Given the description of an element on the screen output the (x, y) to click on. 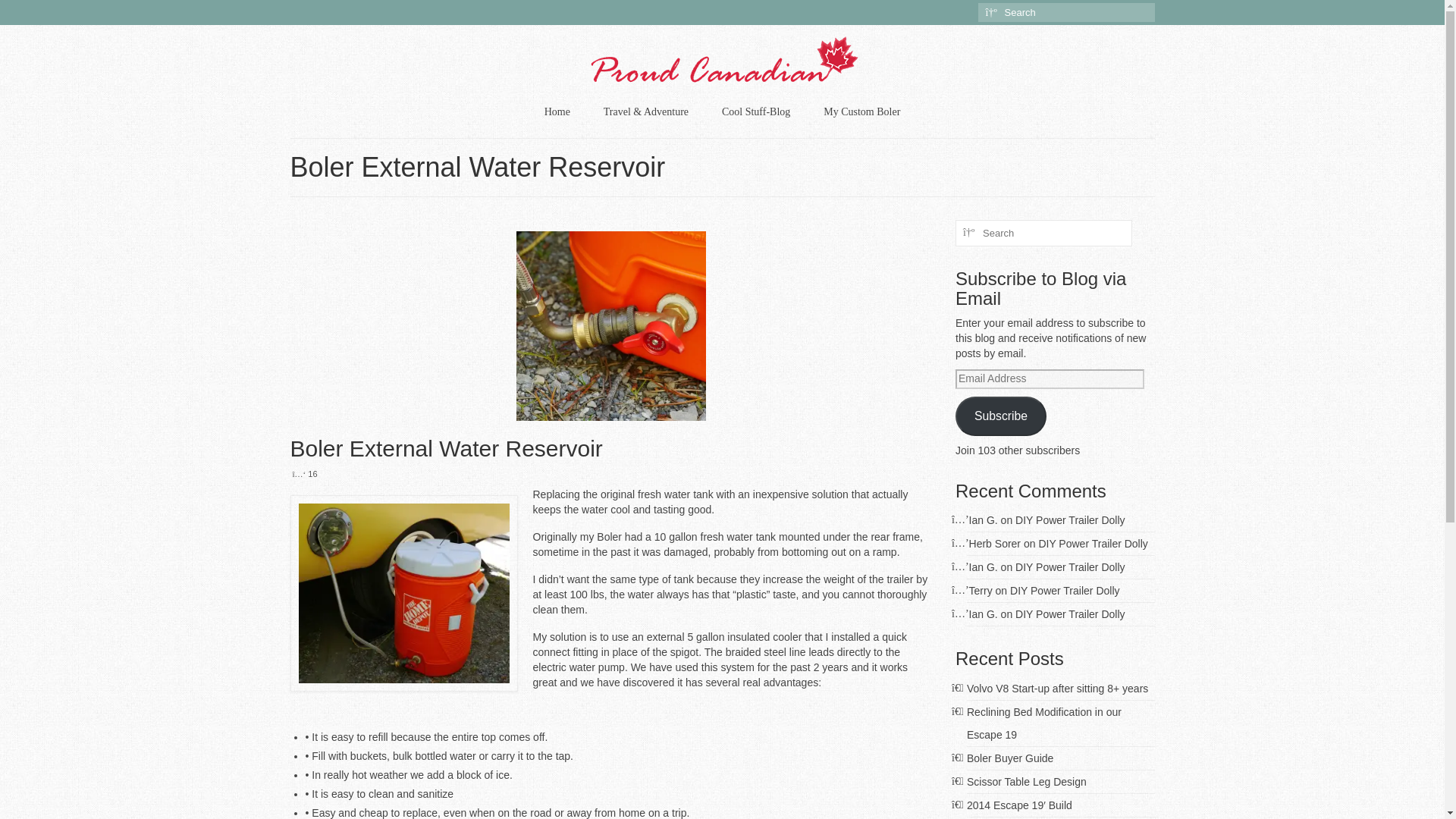
Boler Buyer Guide (1009, 758)
Ian G. (983, 613)
Proud Canadian (724, 61)
Boler External Water Reservoir (611, 448)
DIY Power Trailer Dolly (1069, 520)
Home (557, 111)
16 (304, 473)
DIY Power Trailer Dolly (1069, 567)
DIY Power Trailer Dolly (1064, 590)
My Custom Boler (861, 111)
